Given the description of an element on the screen output the (x, y) to click on. 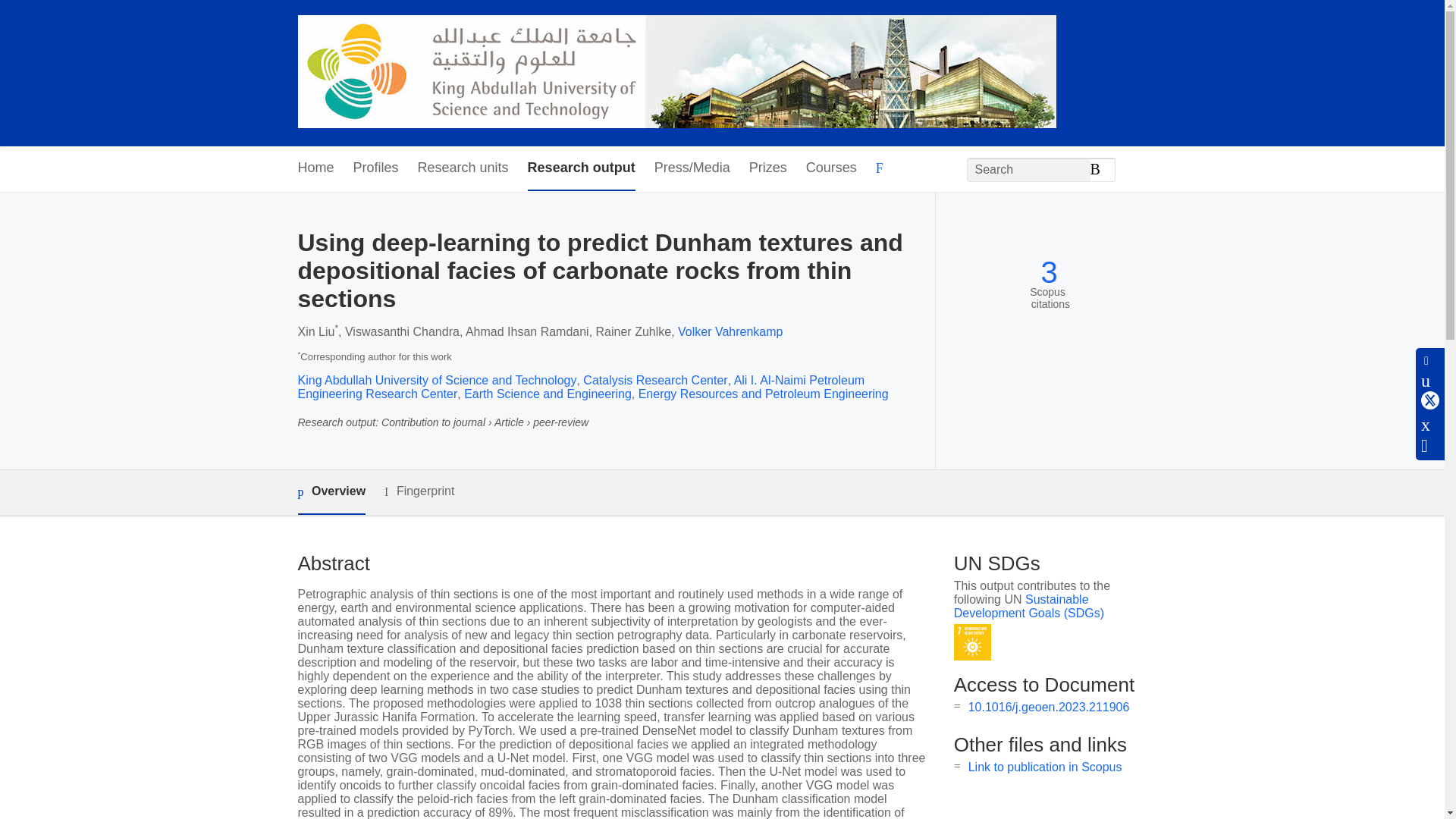
Ali I. Al-Naimi Petroleum Engineering Research Center (580, 386)
Volker Vahrenkamp (730, 331)
Profiles (375, 168)
Link to publication in Scopus (1045, 766)
Catalysis Research Center (654, 379)
King Abdullah University of Science and Technology (436, 379)
Energy Resources and Petroleum Engineering (763, 393)
KAUST PORTAL FOR RESEARCHERS AND STUDENTS Home (676, 73)
Research units (462, 168)
Fingerprint (419, 491)
